Given the description of an element on the screen output the (x, y) to click on. 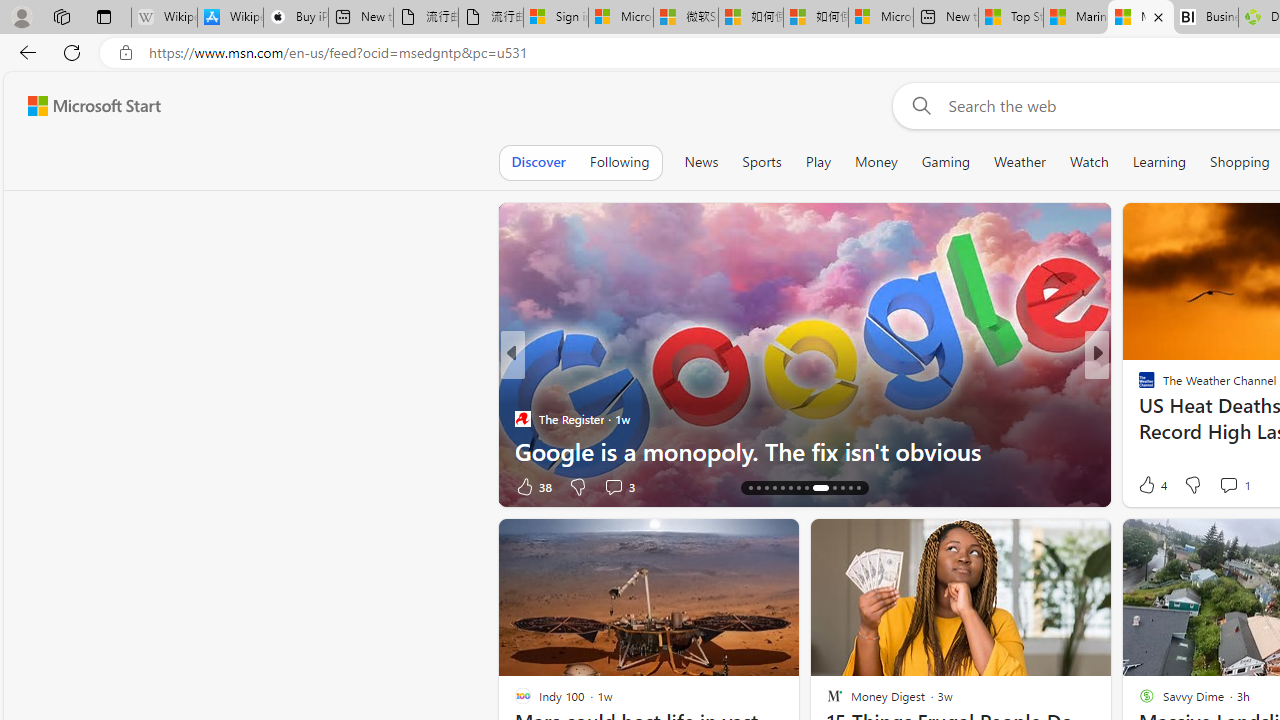
View comments 339 Comment (11, 485)
View comments 3 Comment (1234, 485)
123 Like (1151, 486)
